Given the description of an element on the screen output the (x, y) to click on. 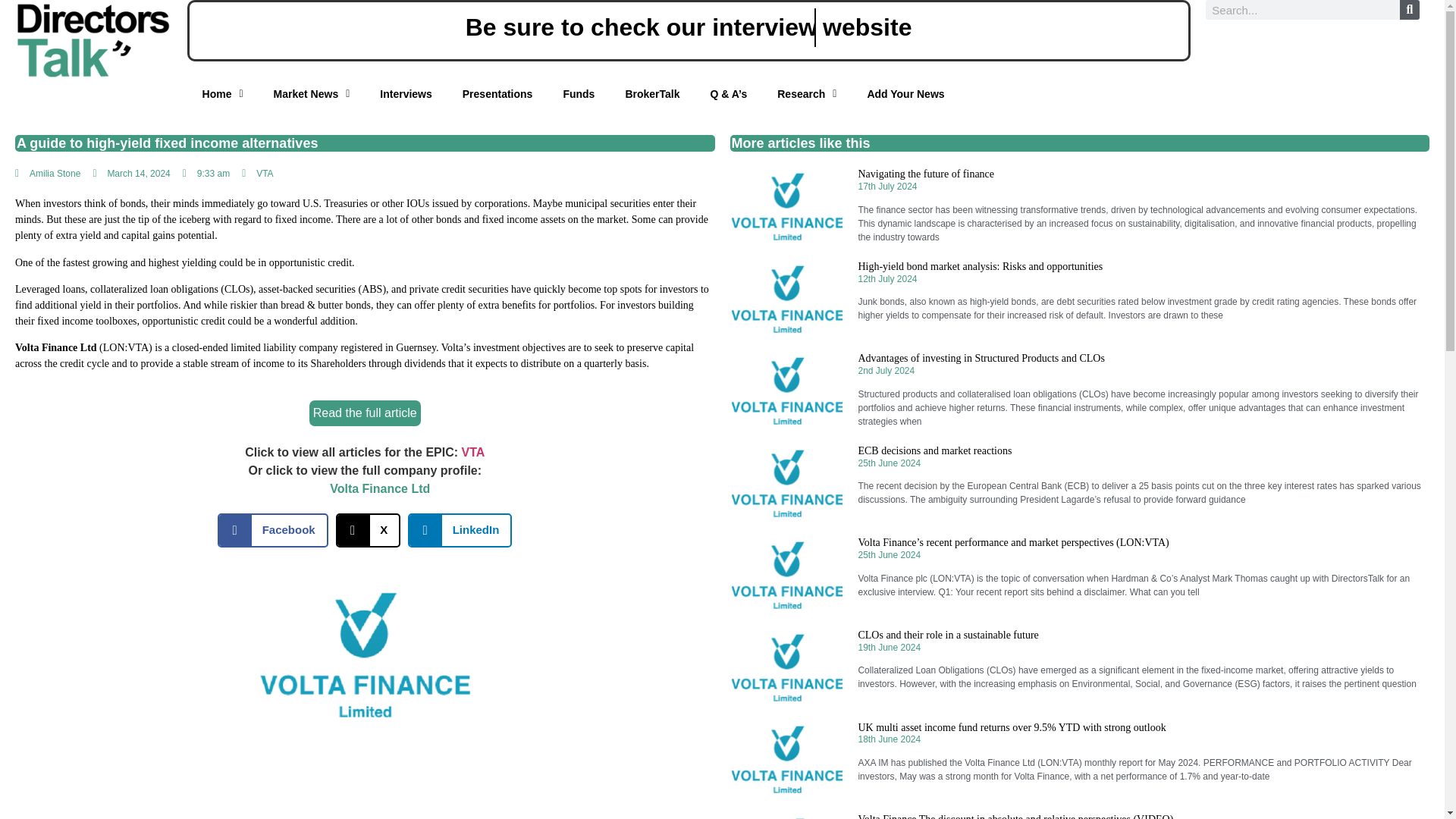
Funds (399, 93)
BrokerTalk (499, 93)
Presentations (288, 93)
Add Your News (823, 93)
Research (688, 93)
Volta Finance Ltd (379, 488)
Interviews (181, 93)
